Given the description of an element on the screen output the (x, y) to click on. 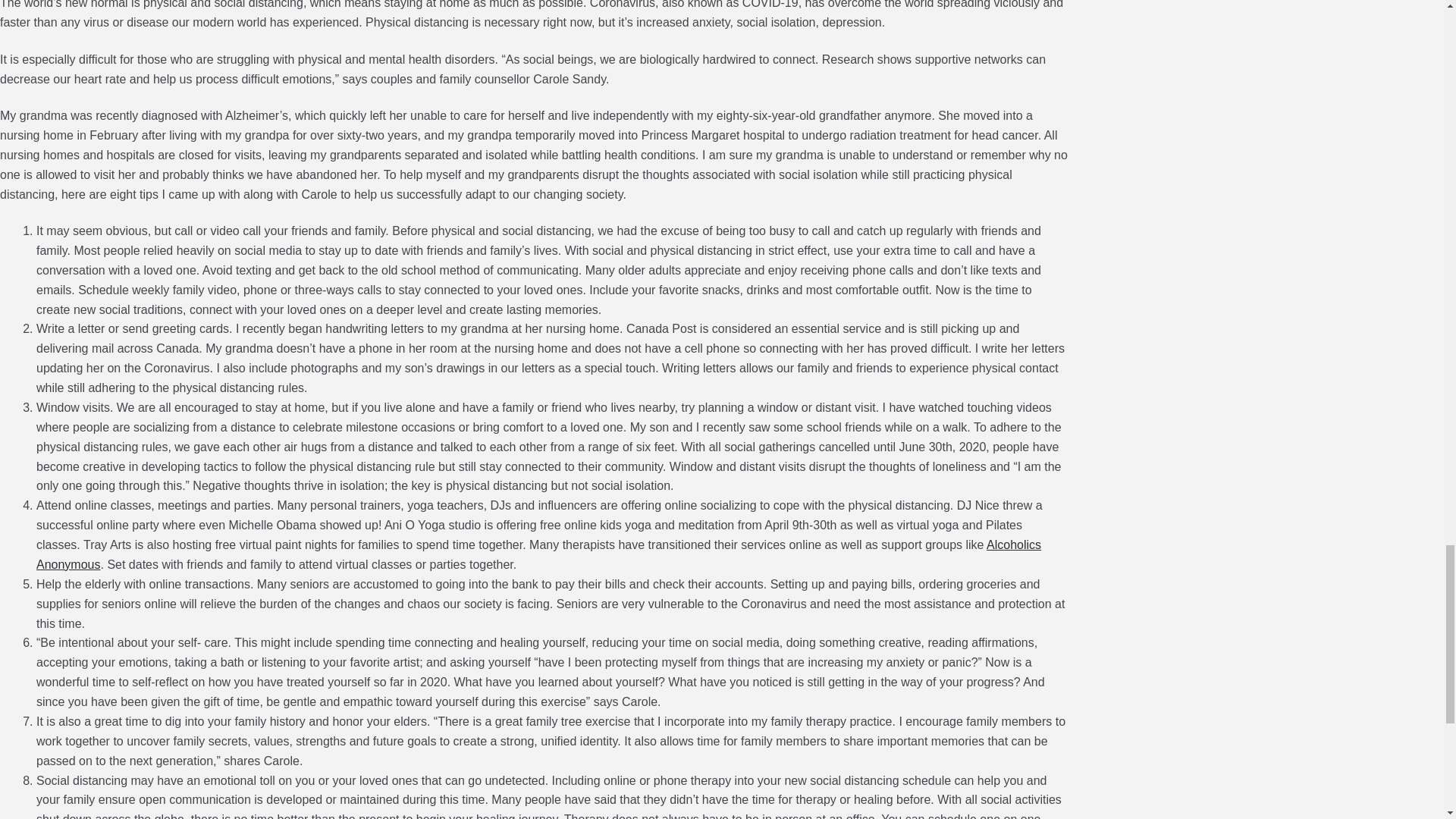
Alcoholics Anonymous (538, 554)
